Given the description of an element on the screen output the (x, y) to click on. 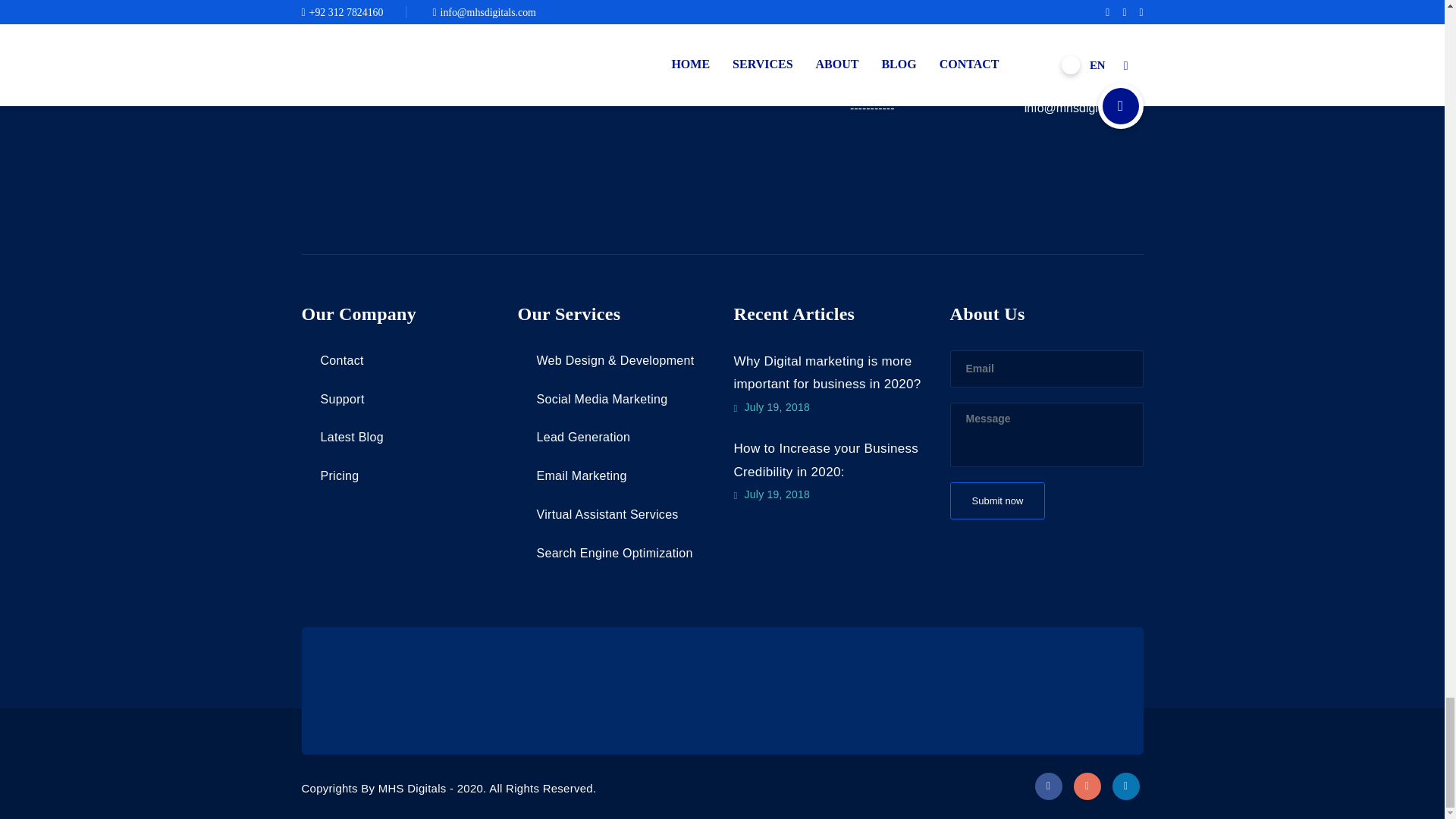
Support (333, 399)
Submit now (997, 500)
Latest Blog (342, 436)
Pricing (330, 475)
Contact (873, 96)
